Given the description of an element on the screen output the (x, y) to click on. 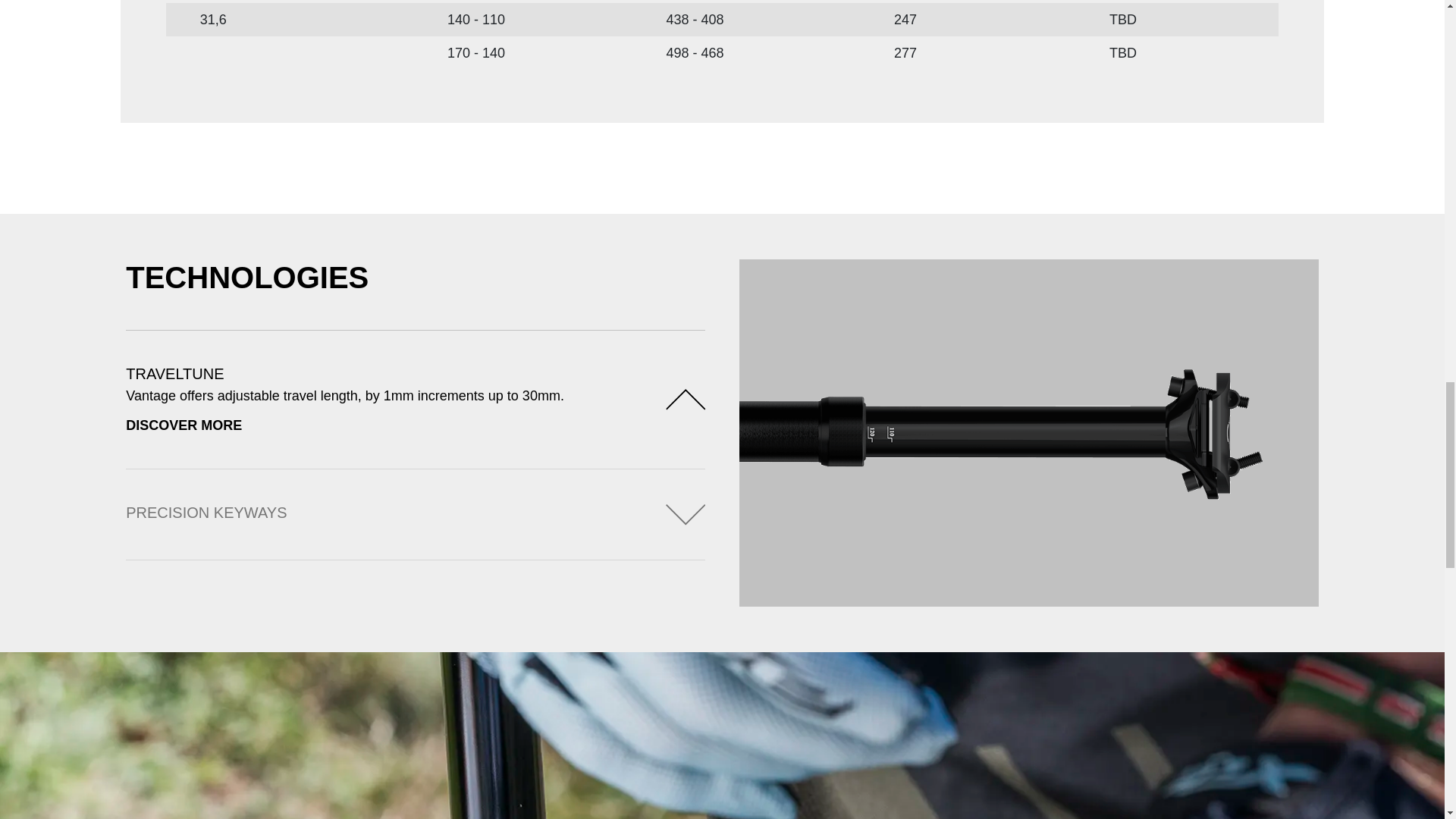
DISCOVER MORE (382, 425)
